Given the description of an element on the screen output the (x, y) to click on. 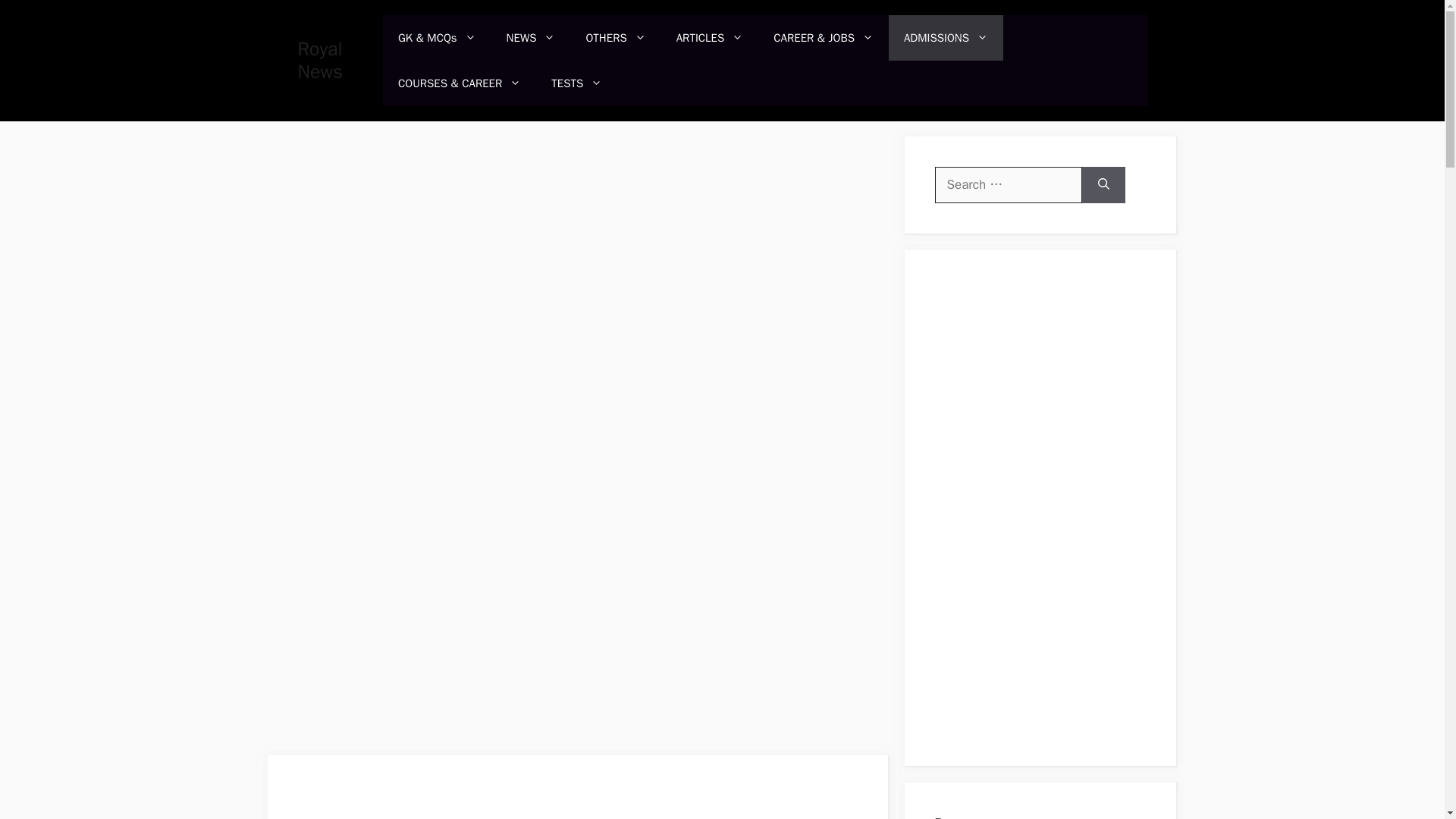
NEWS (531, 37)
Search for: (1007, 185)
OTHERS (615, 37)
ADMISSIONS (945, 37)
Royal News (319, 59)
ARTICLES (709, 37)
